Given the description of an element on the screen output the (x, y) to click on. 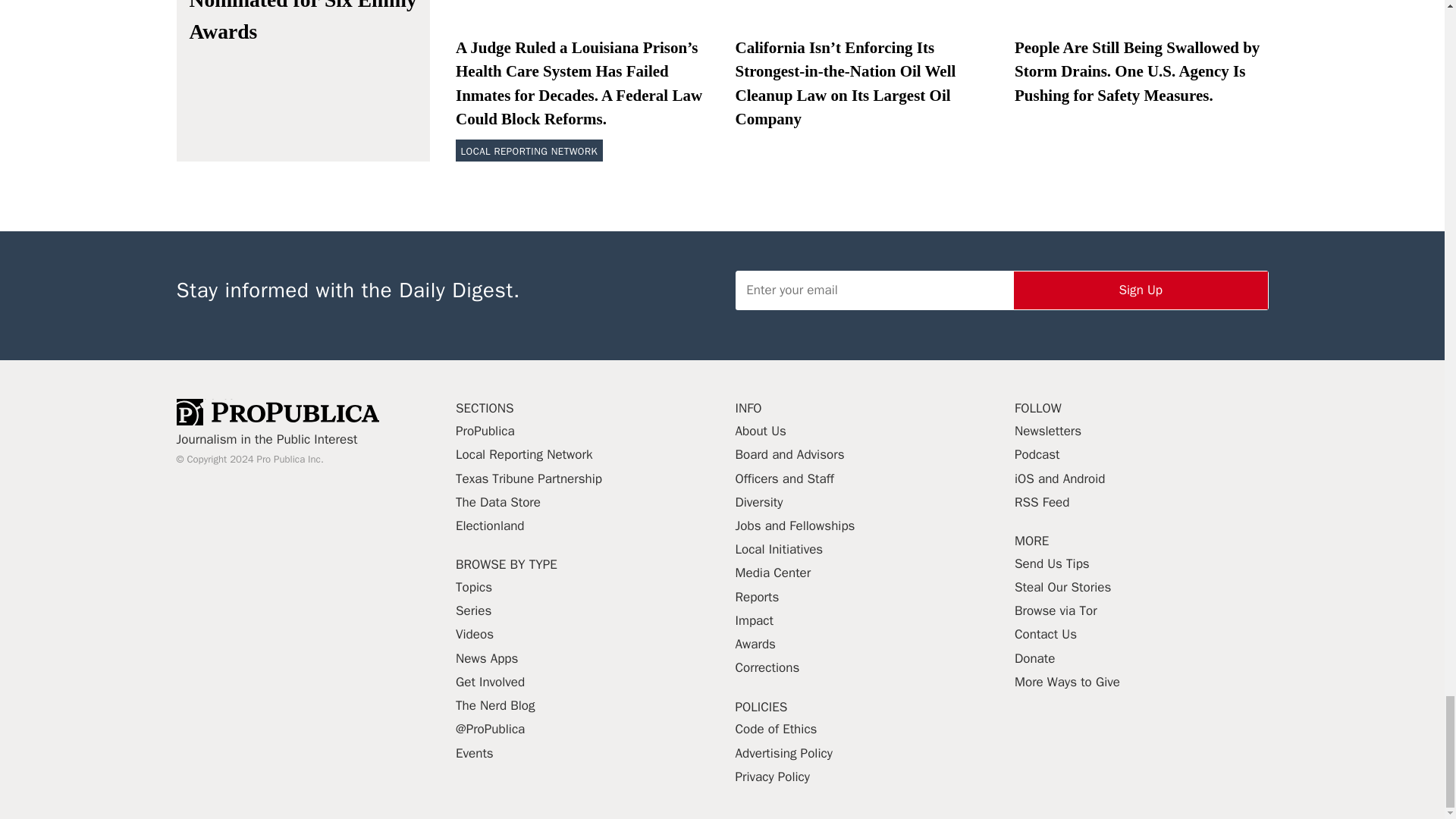
Sign Up (1140, 290)
